Given the description of an element on the screen output the (x, y) to click on. 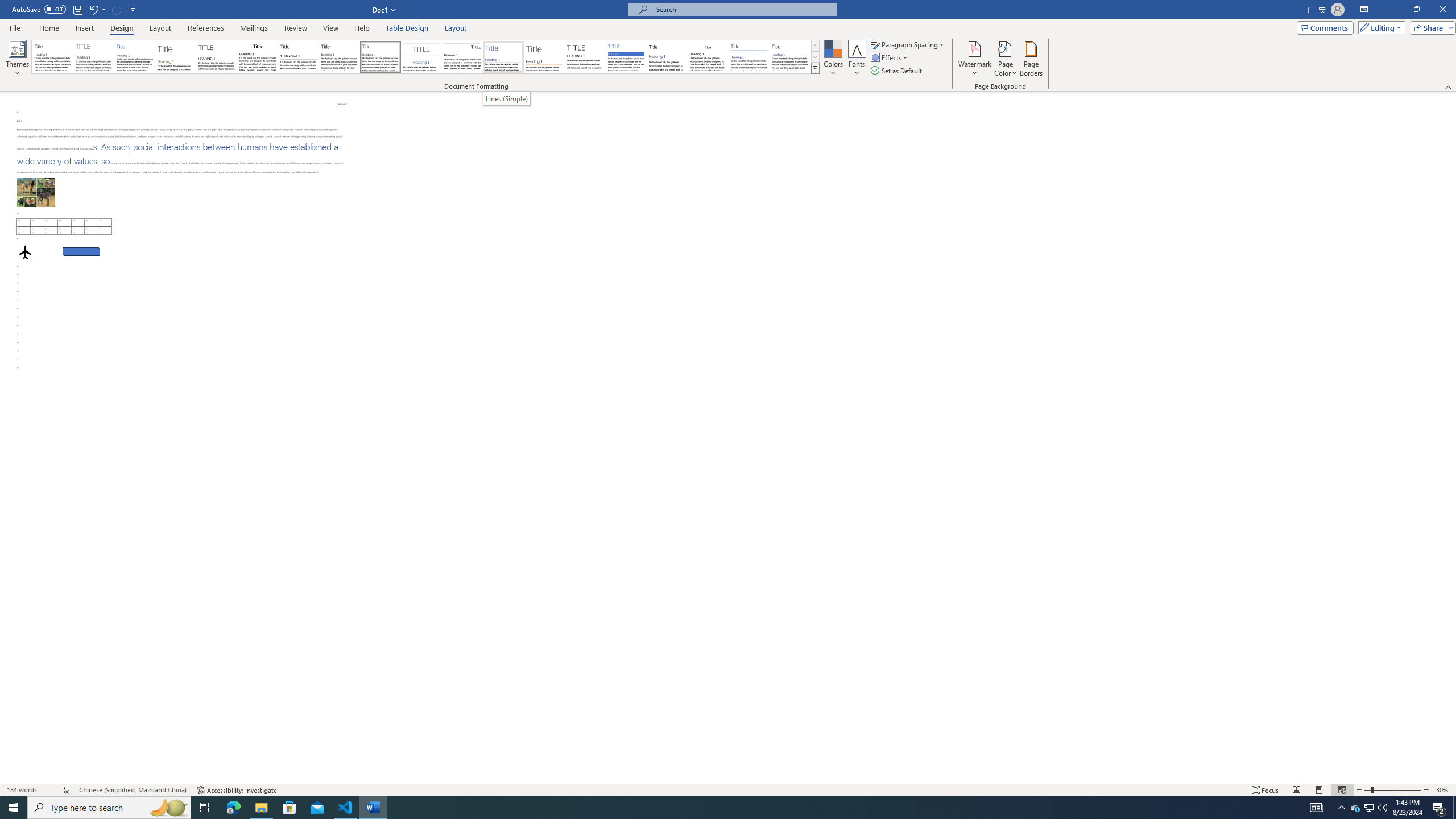
Style Set (814, 67)
Word Count 184 words (28, 790)
Undo Apply Quick Style Set (96, 9)
Lines (Simple) (506, 98)
Page Borders... (1031, 58)
Black & White (Capitalized) (216, 56)
Undo Apply Quick Style Set (92, 9)
